Given the description of an element on the screen output the (x, y) to click on. 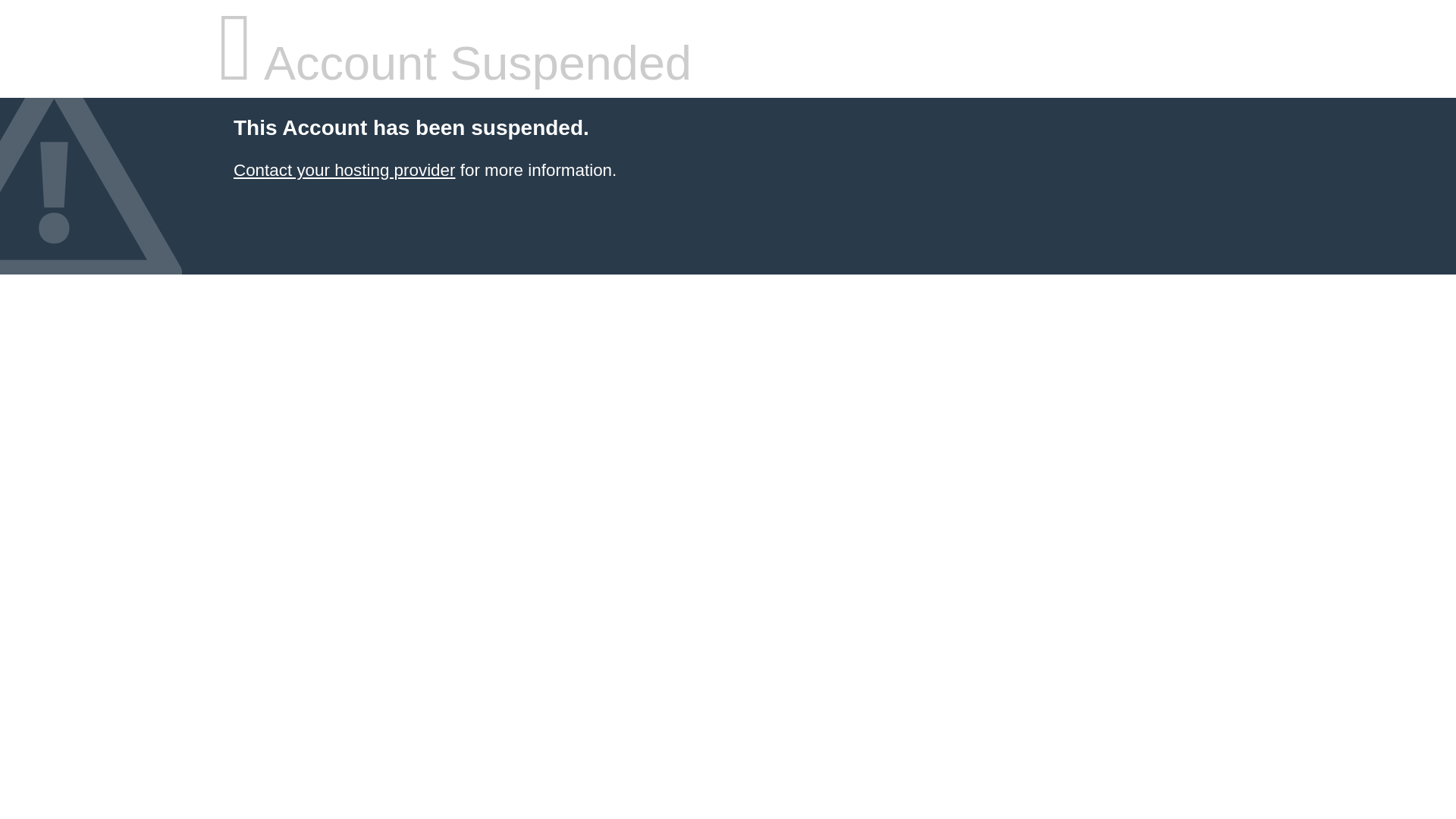
Contact your hosting provider (343, 169)
